Given the description of an element on the screen output the (x, y) to click on. 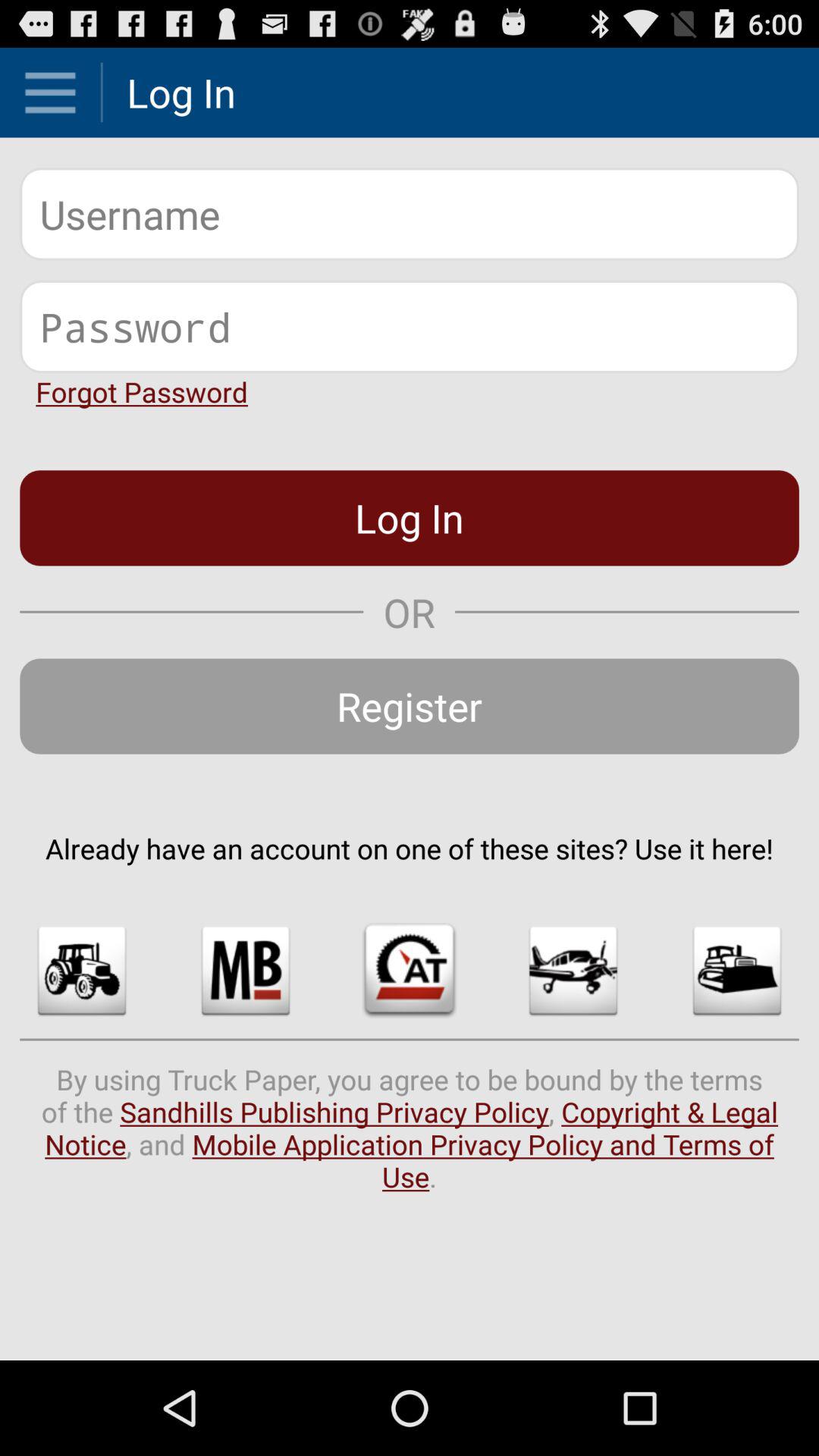
login with mb site credentials (245, 970)
